Given the description of an element on the screen output the (x, y) to click on. 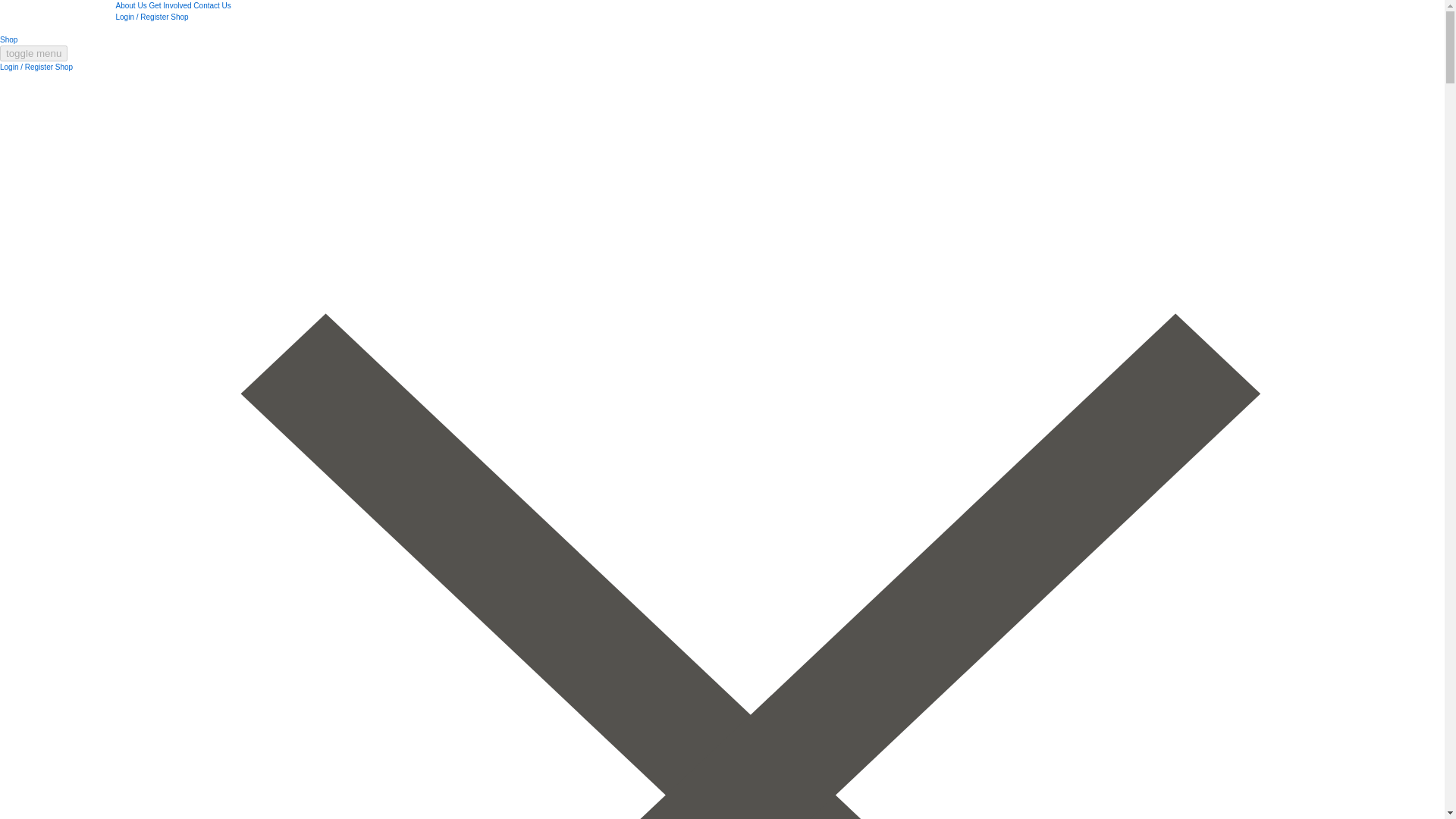
Contact Us (211, 5)
Shop (63, 67)
toggle menu (33, 53)
About Us (131, 5)
Shop (178, 17)
Shop (8, 40)
Get Involved (169, 5)
